Given the description of an element on the screen output the (x, y) to click on. 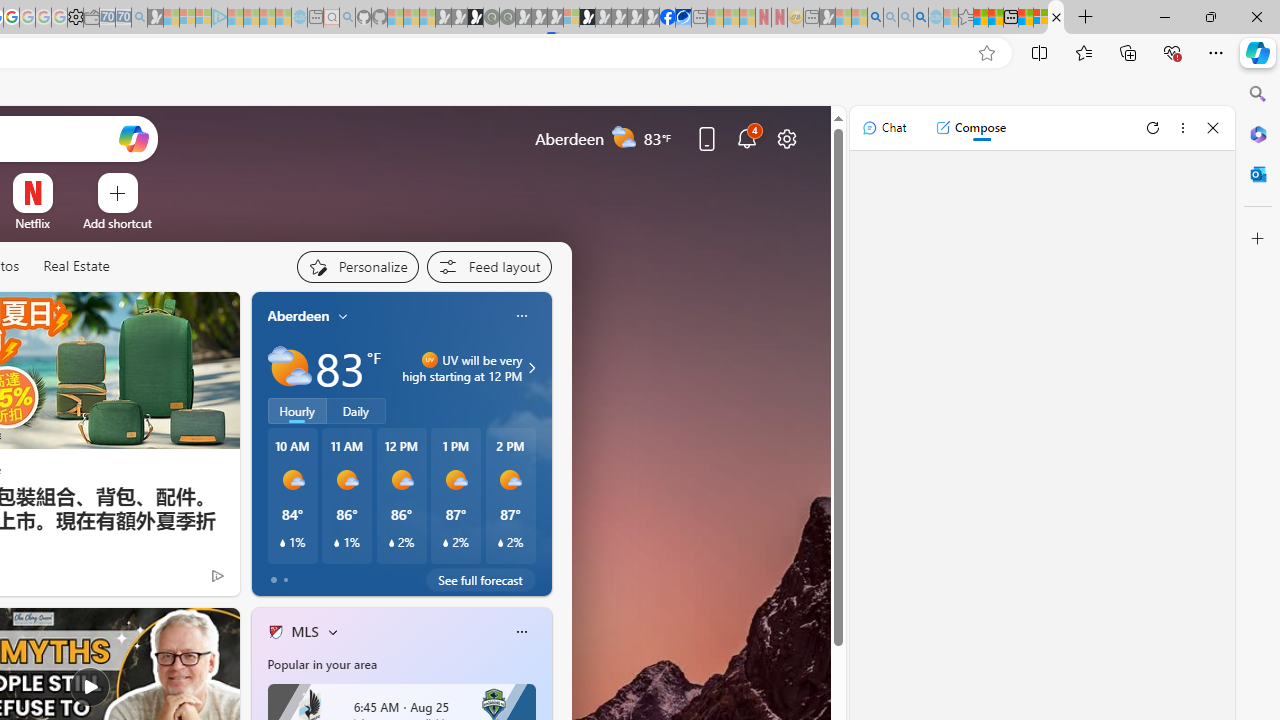
tab-1 (285, 579)
Real Estate (75, 267)
Sign in to your account - Sleeping (571, 17)
